Given the description of an element on the screen output the (x, y) to click on. 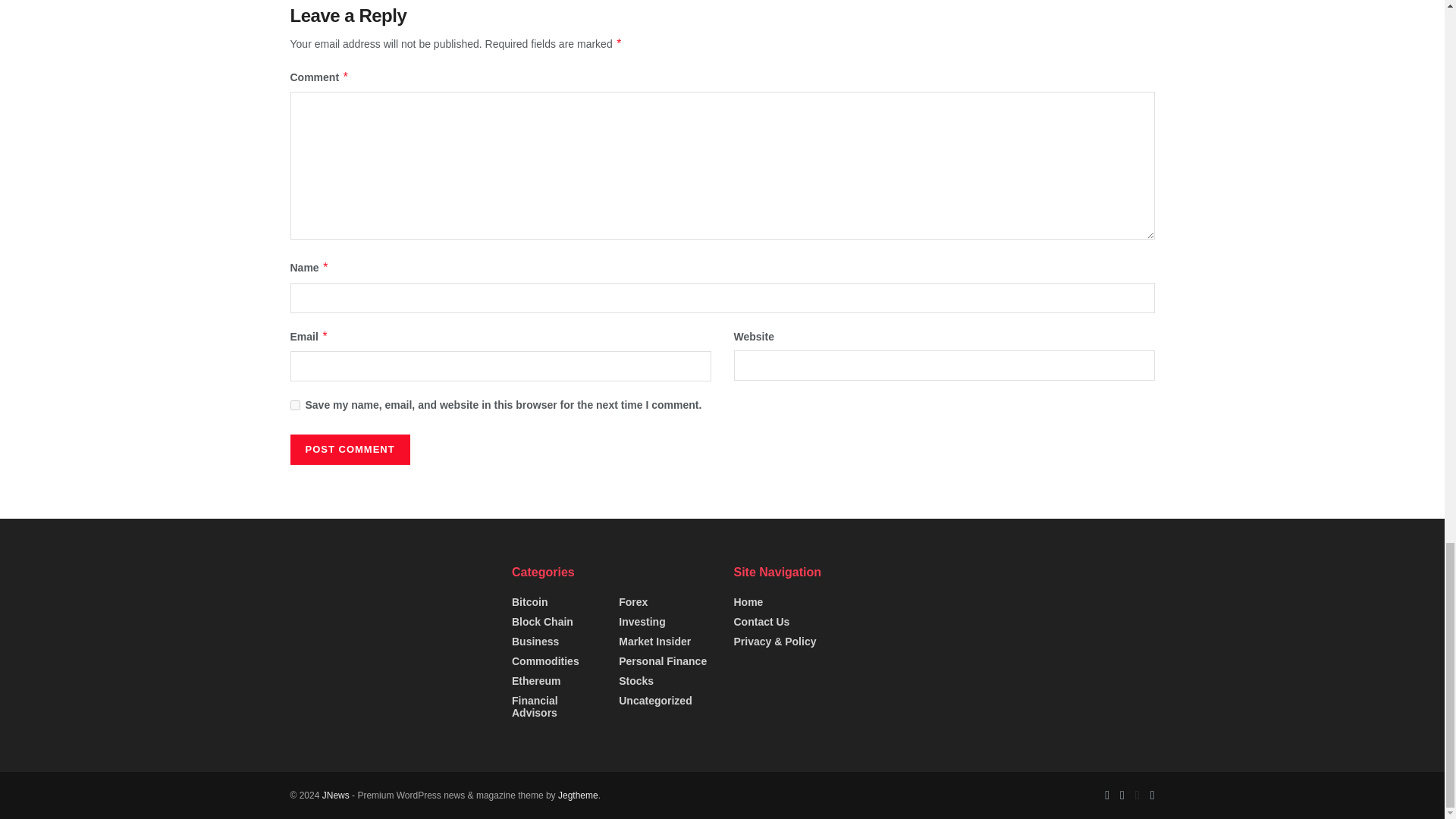
yes (294, 405)
Jegtheme (577, 795)
Post Comment (349, 449)
